Given the description of an element on the screen output the (x, y) to click on. 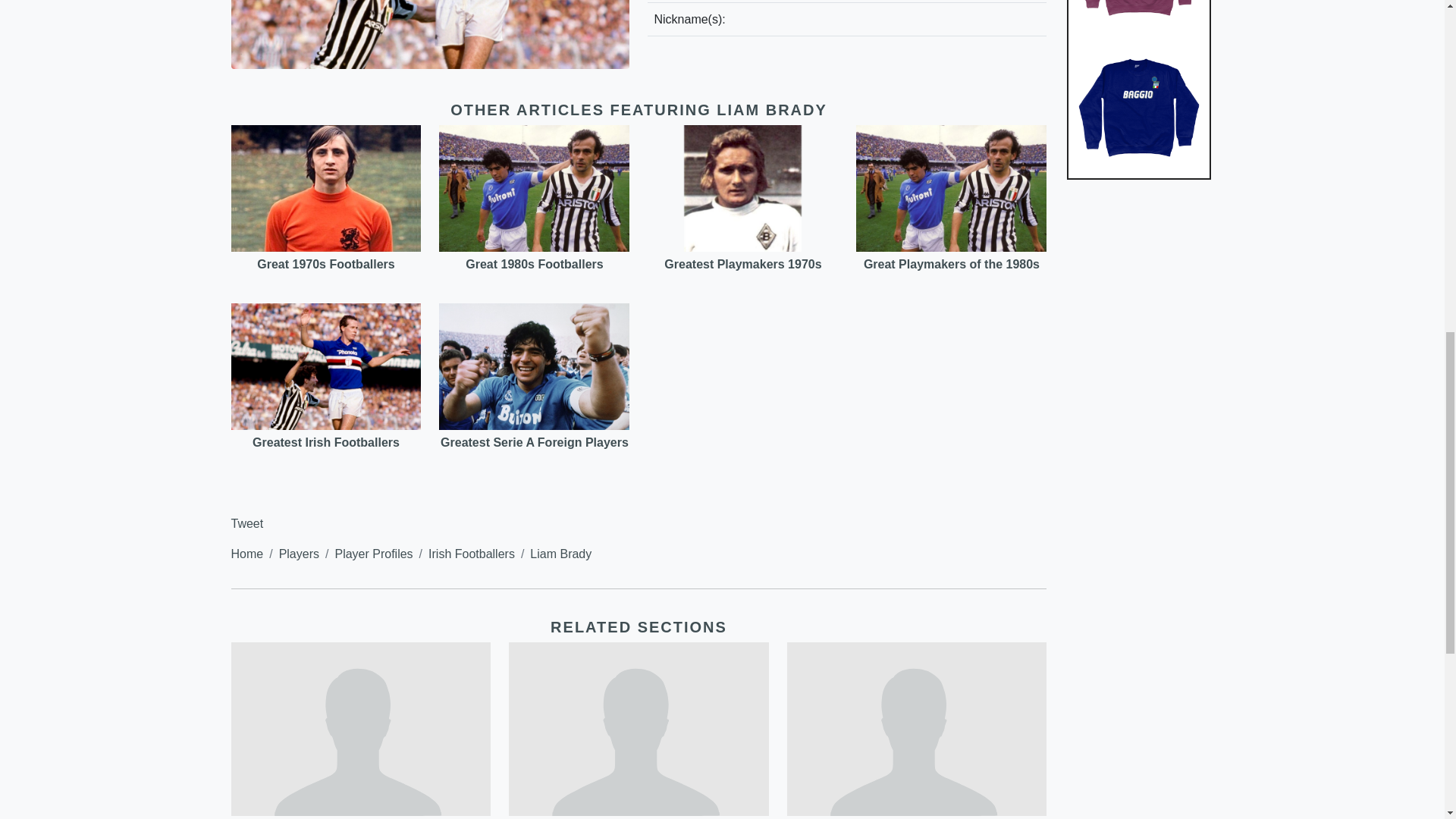
Player Profiles (373, 553)
Great 1980s Footballers (533, 264)
Irish Footballers (471, 553)
Greatest Irish Footballers (324, 441)
Tweet (246, 522)
Greatest Serie A Foreign Players (534, 441)
Players (298, 553)
Greatest Playmakers 1970s (742, 264)
Liam Brady (560, 553)
Home (246, 553)
